Given the description of an element on the screen output the (x, y) to click on. 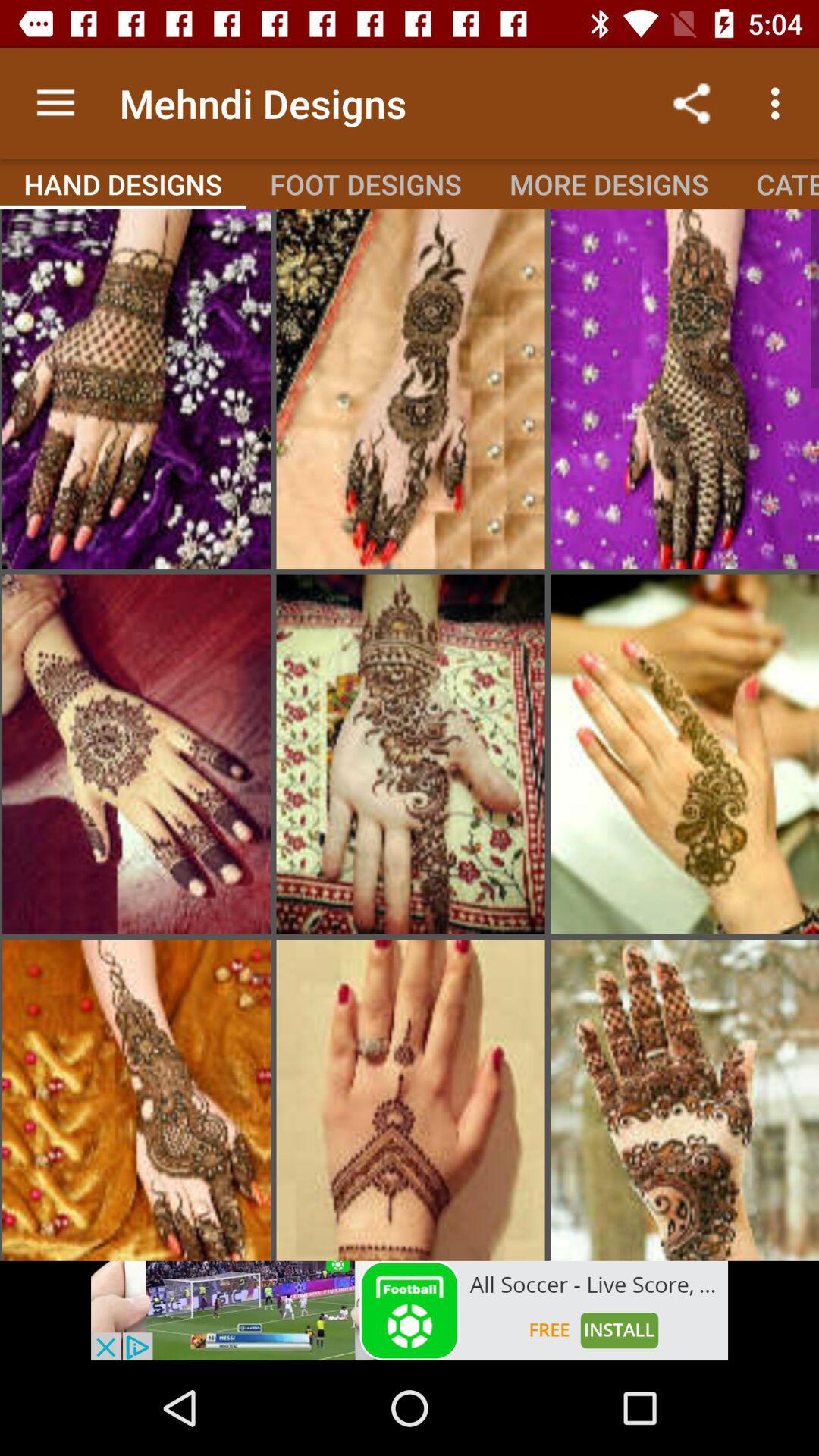
more detail option (684, 753)
